Given the description of an element on the screen output the (x, y) to click on. 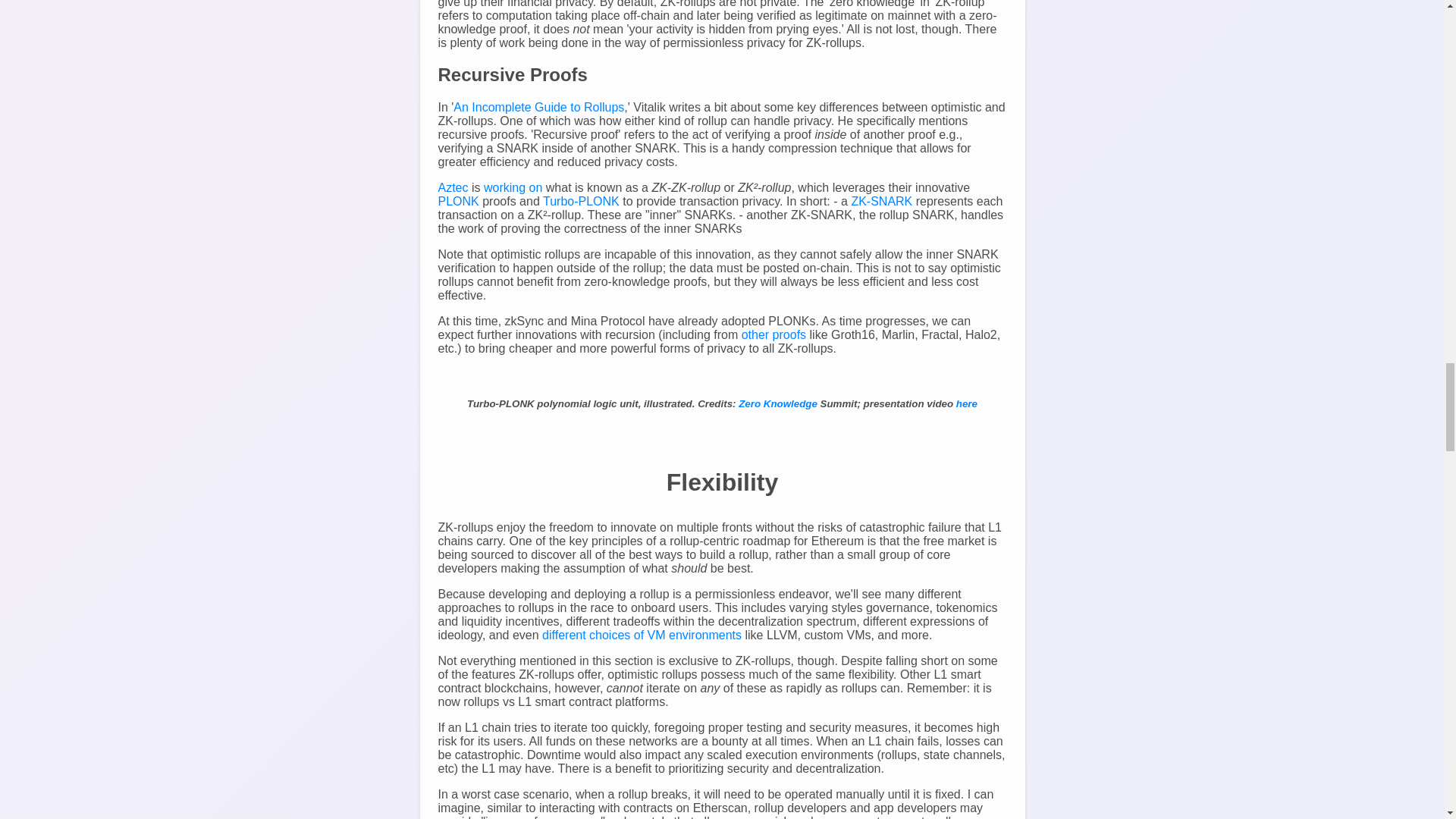
here (966, 403)
An Incomplete Guide to Rollups (538, 106)
other proofs (773, 334)
working on (512, 187)
Zero Knowledge (777, 403)
different choices of VM environments (641, 634)
Turbo-PLONK (581, 201)
Aztec (453, 187)
ZK-SNARK (881, 201)
PLONK (458, 201)
